Given the description of an element on the screen output the (x, y) to click on. 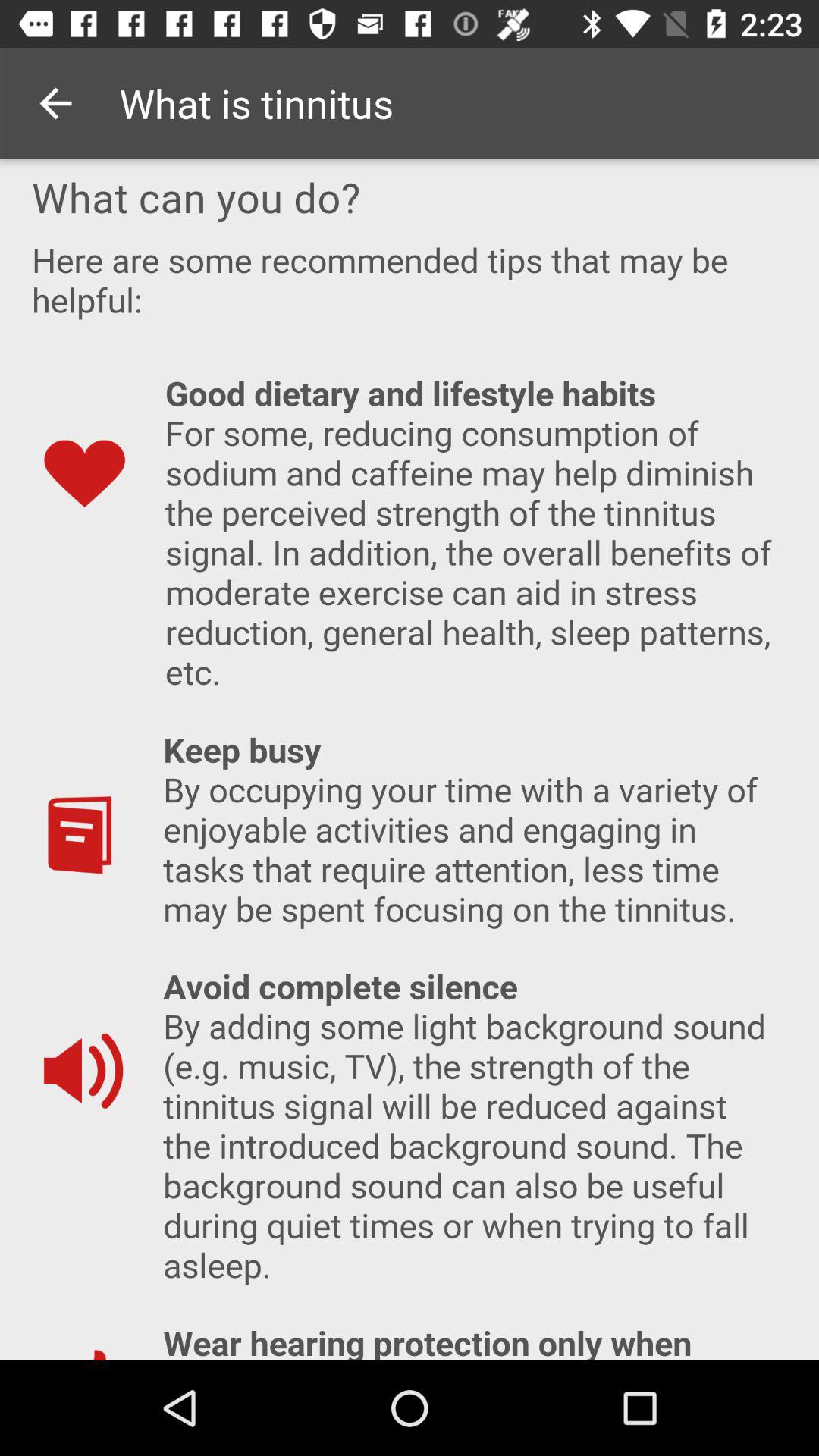
screen (409, 759)
